Given the description of an element on the screen output the (x, y) to click on. 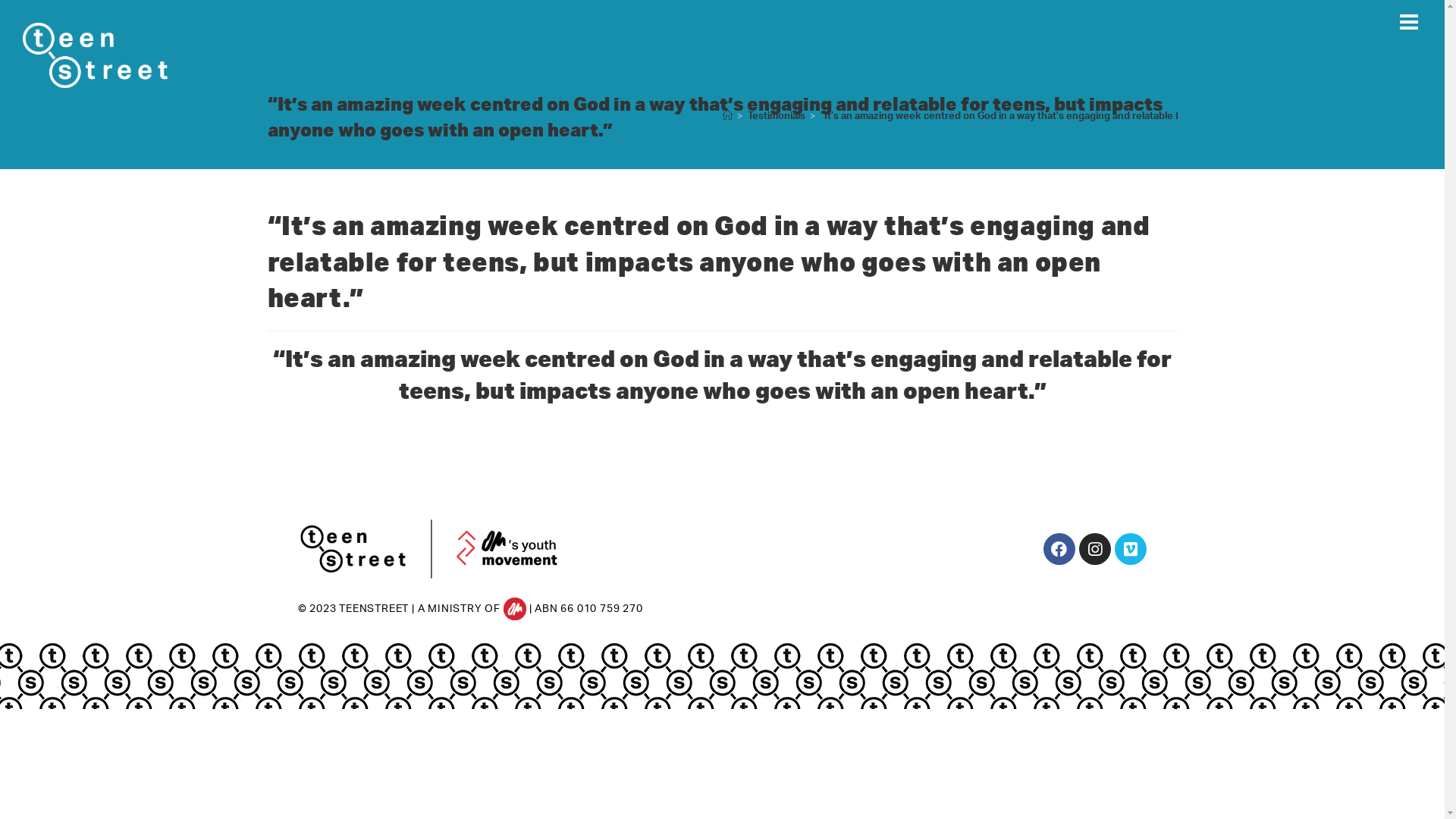
Testimonials Element type: text (776, 116)
